Given the description of an element on the screen output the (x, y) to click on. 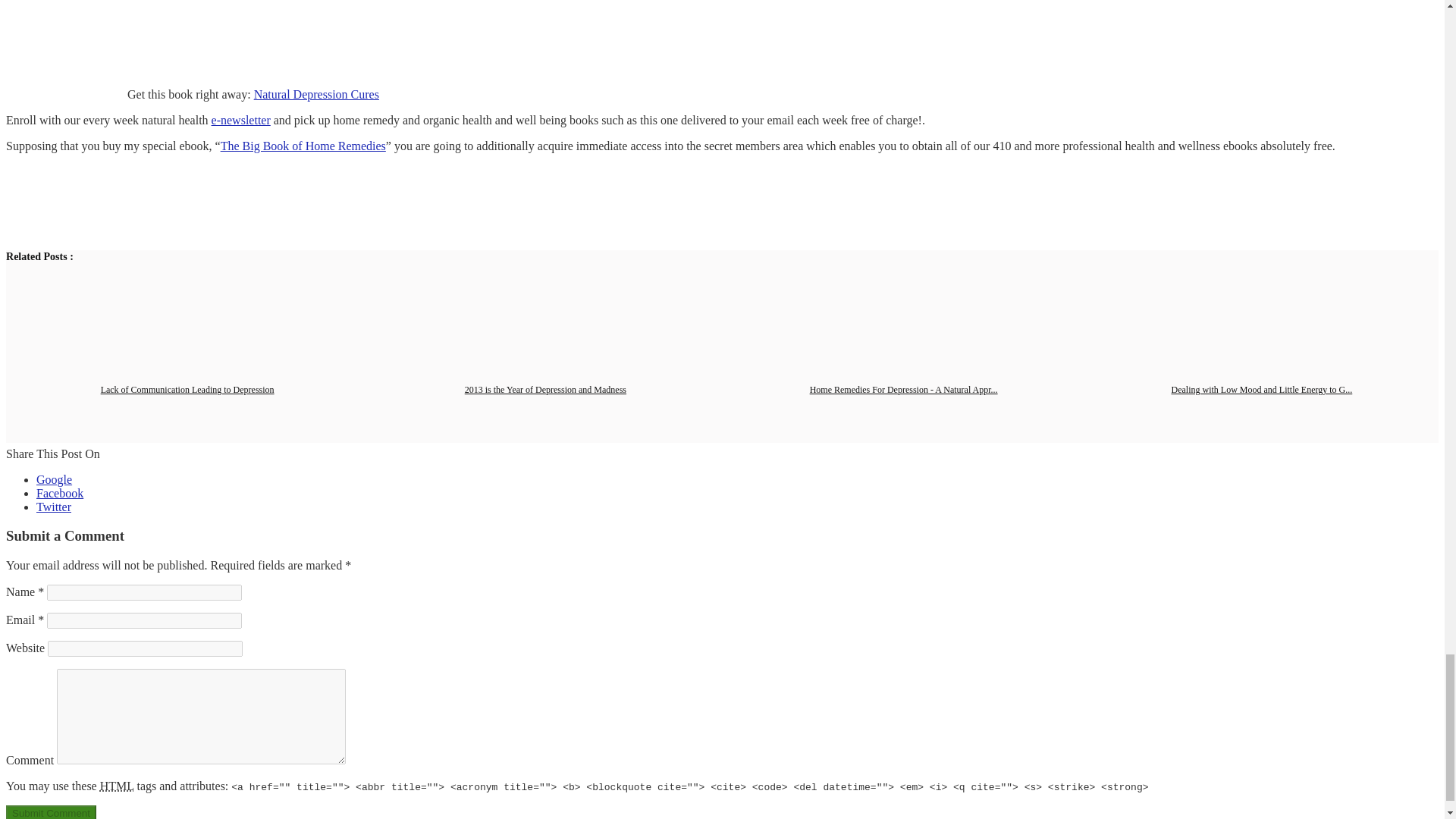
Natural Depression Cures (315, 93)
Subscribe to Newsletter (240, 119)
HyperText Markup Language (116, 785)
The Big Book of Home Remedies (303, 145)
e-newsletter (240, 119)
Lack of Communication Leading to Depression (187, 389)
2013 is the Year of Depression and Madness (545, 389)
